Given the description of an element on the screen output the (x, y) to click on. 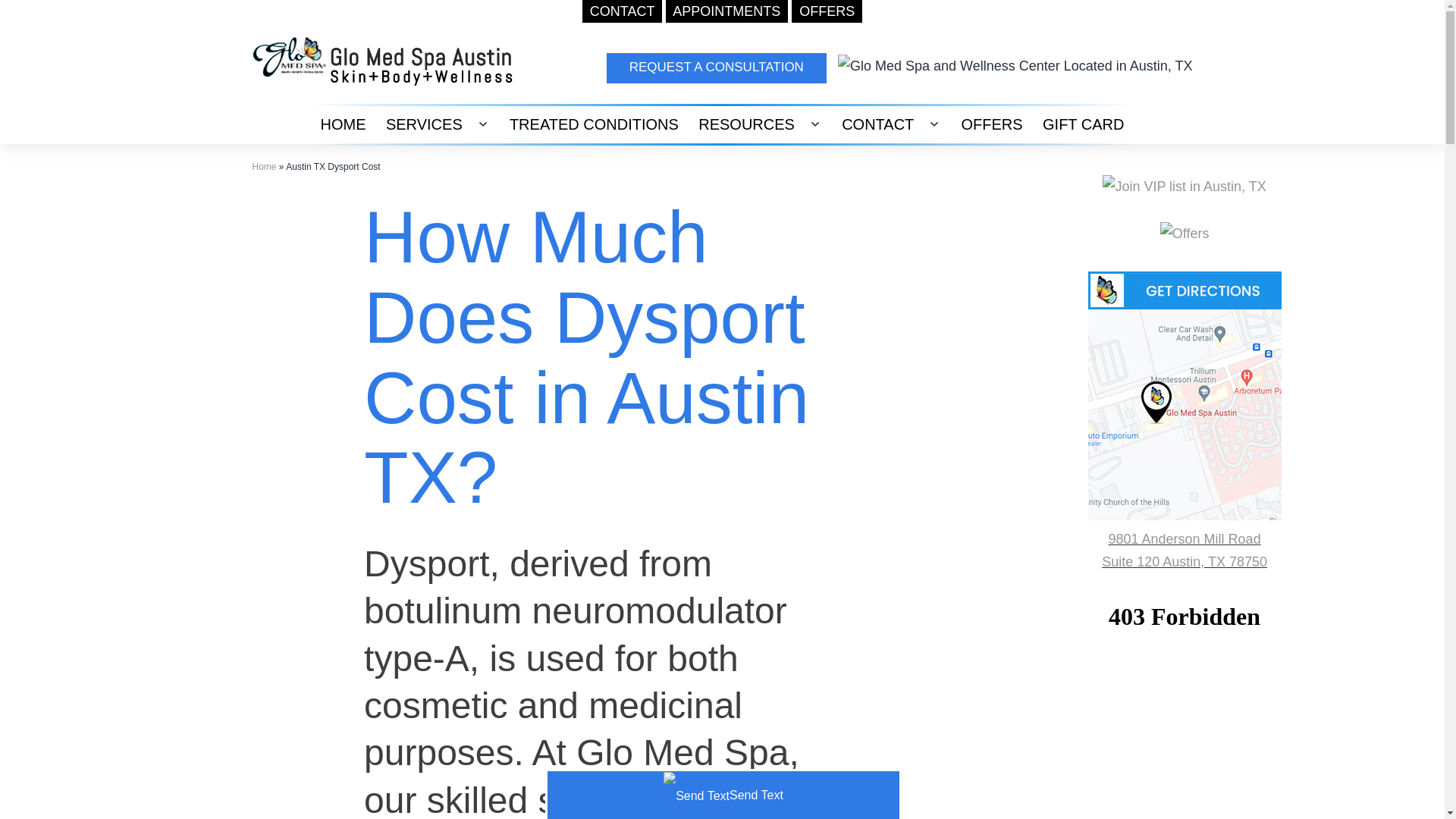
Join VIP list in Austin, TX (1183, 187)
SERVICES (423, 124)
Open menu (482, 124)
OFFERS (826, 11)
CONTACT (622, 11)
Glo Med Spa and Wellness Center Located in Austin, TX (1015, 65)
RESOURCES (746, 124)
TREATED CONDITIONS (593, 124)
CONTACT (877, 124)
Open menu (814, 124)
